Given the description of an element on the screen output the (x, y) to click on. 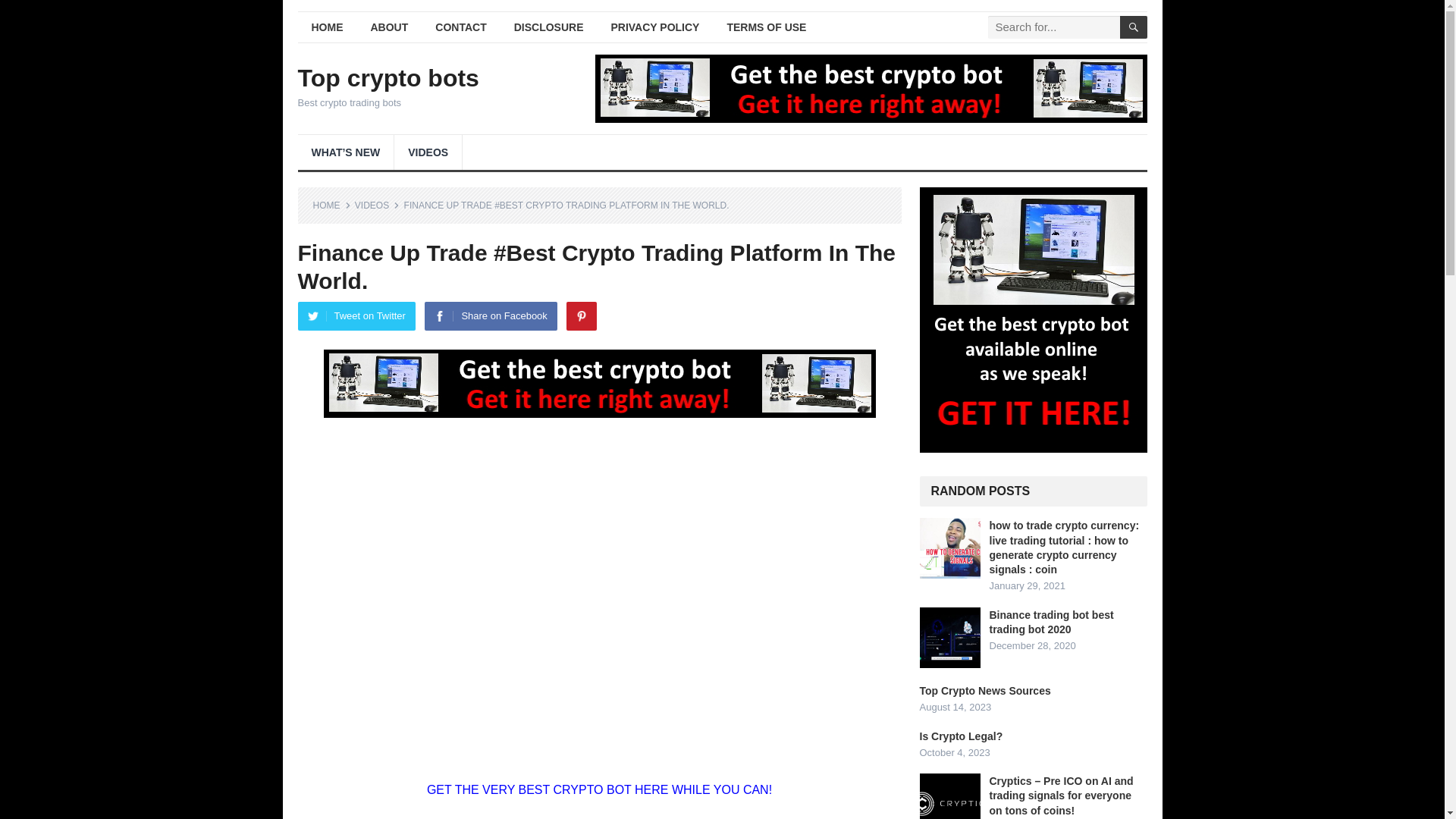
VIDEOS (376, 204)
PRIVACY POLICY (654, 27)
Share on Facebook (490, 316)
Top crypto bots (388, 78)
Tweet on Twitter (355, 316)
GET THE VERY BEST CRYPTO BOT HERE WHILE YOU CAN! (598, 789)
View all posts in Videos (376, 204)
Binance trading bot best trading bot 2020 2 (948, 637)
VIDEOS (427, 152)
